Given the description of an element on the screen output the (x, y) to click on. 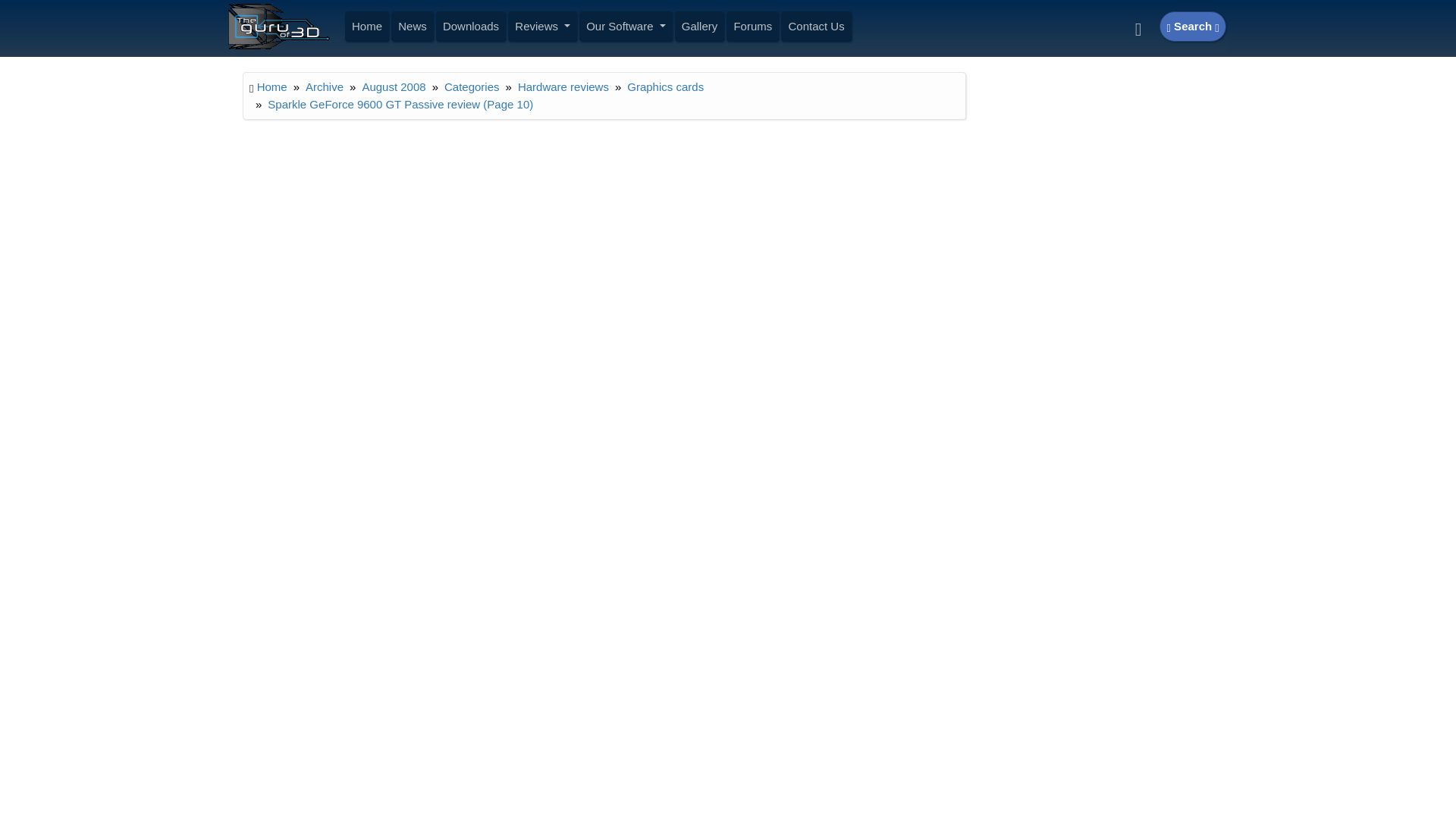
Graphics cards (665, 86)
Forums (751, 26)
Home (271, 86)
Hardware reviews (563, 86)
Our Software (625, 26)
Categories (471, 86)
Reviews (542, 26)
Downloads (470, 26)
Home (367, 26)
August 2008 (393, 86)
Gallery (699, 26)
Archive (324, 86)
Contact Us (815, 26)
News (411, 26)
